Given the description of an element on the screen output the (x, y) to click on. 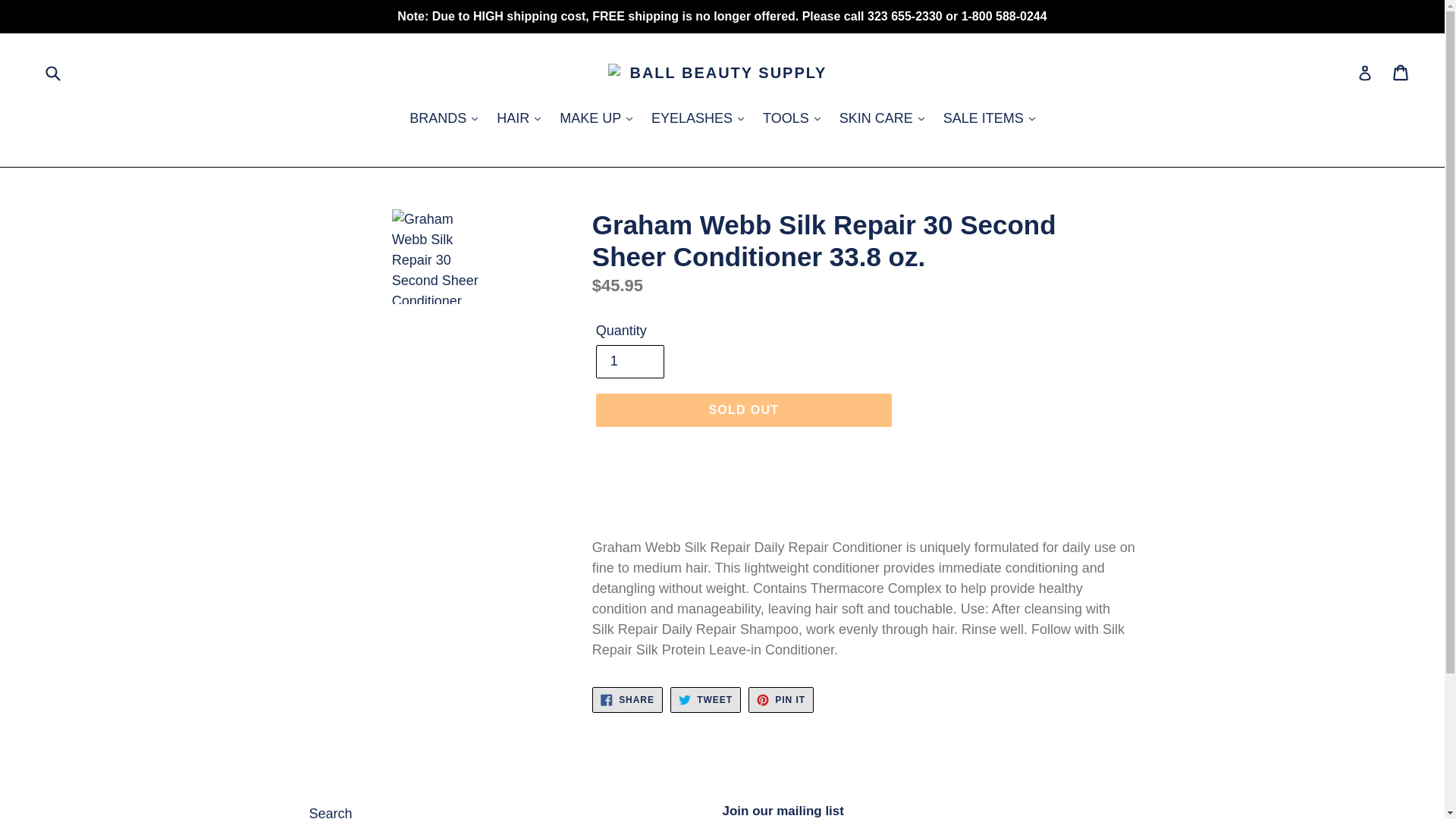
Pin on Pinterest (780, 699)
Tweet on Twitter (705, 699)
Share on Facebook (627, 699)
1 (629, 361)
